Given the description of an element on the screen output the (x, y) to click on. 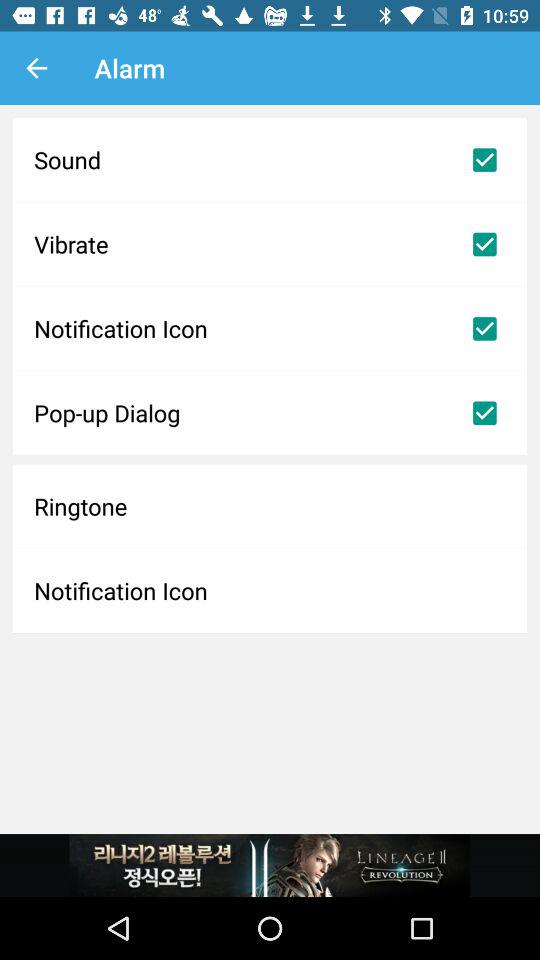
scroll to the ringtone (269, 506)
